Given the description of an element on the screen output the (x, y) to click on. 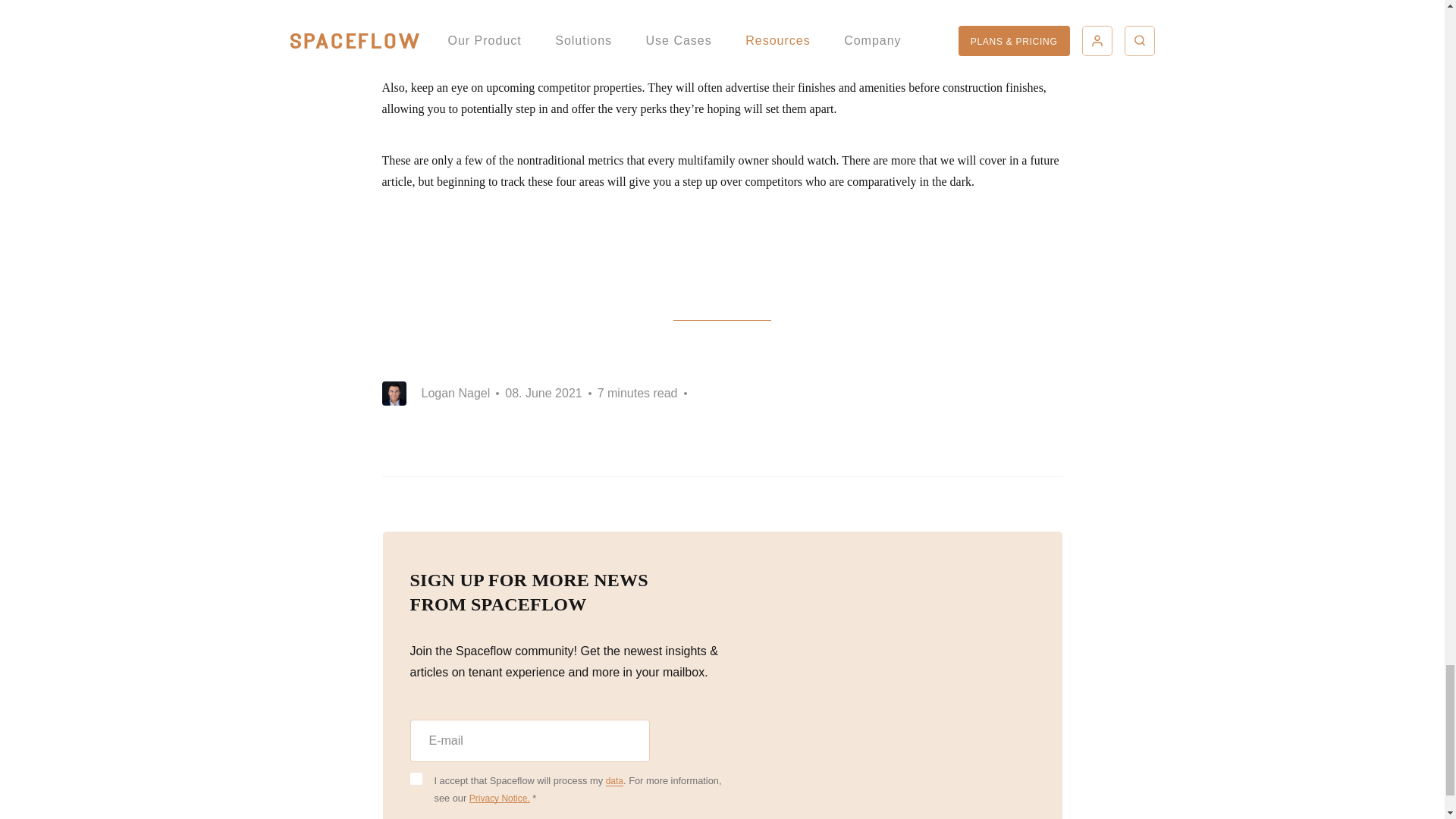
1 (416, 779)
Facebook (968, 393)
Logan Nagel (456, 392)
Twitter (926, 393)
LinkedIn (1011, 393)
Share (1053, 393)
